Given the description of an element on the screen output the (x, y) to click on. 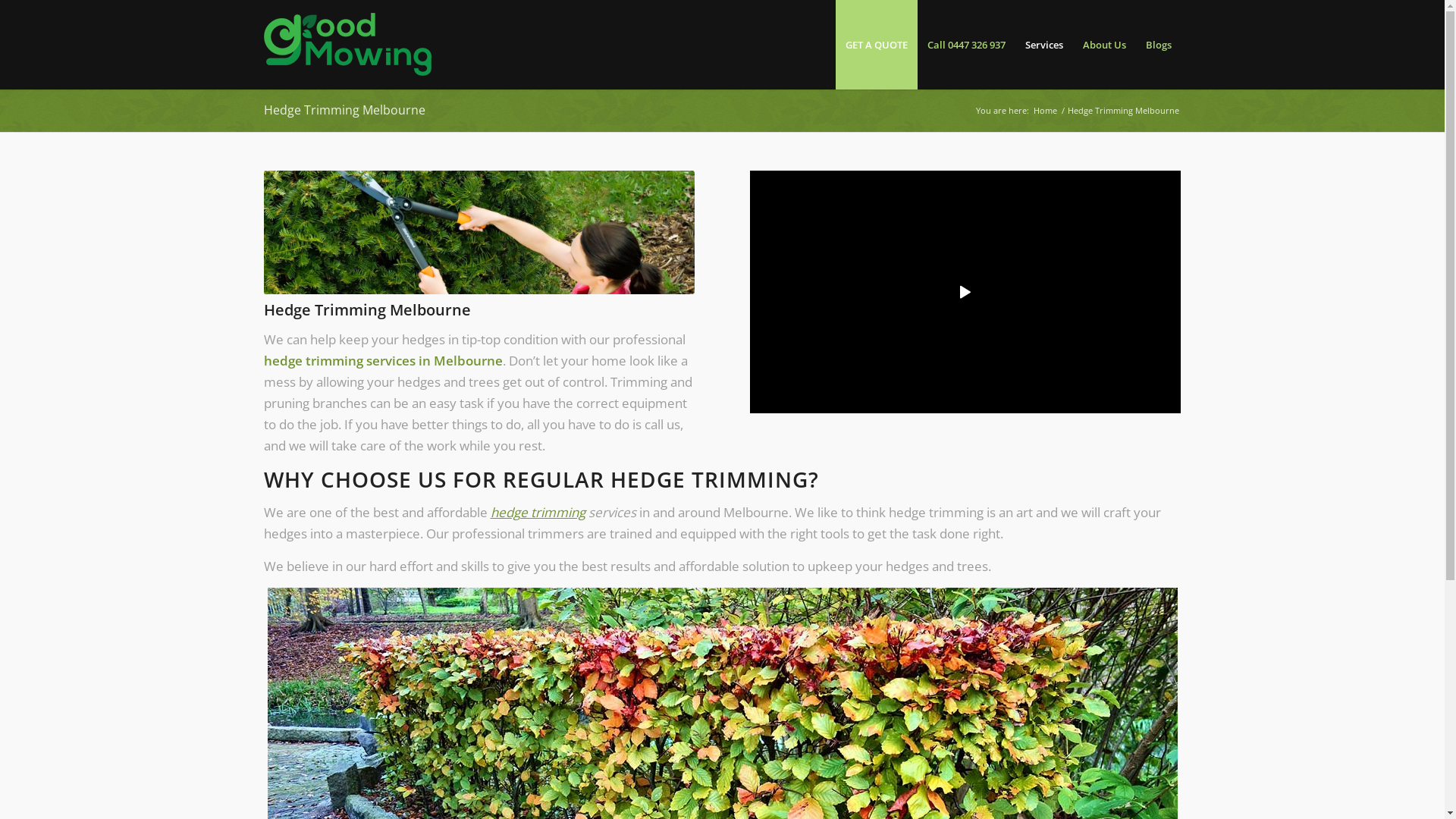
Services Element type: text (1043, 44)
hedgetrimming Element type: hover (479, 232)
Call 0447 326 937 Element type: text (966, 44)
Hedge Trimming Melbourne Element type: text (344, 109)
GET A QUOTE Element type: text (876, 44)
Good Mowing Melbourne Element type: hover (347, 41)
Blogs Element type: text (1158, 44)
About Us Element type: text (1103, 44)
hedge trimming Element type: text (536, 511)
Home Element type: text (1045, 110)
